Given the description of an element on the screen output the (x, y) to click on. 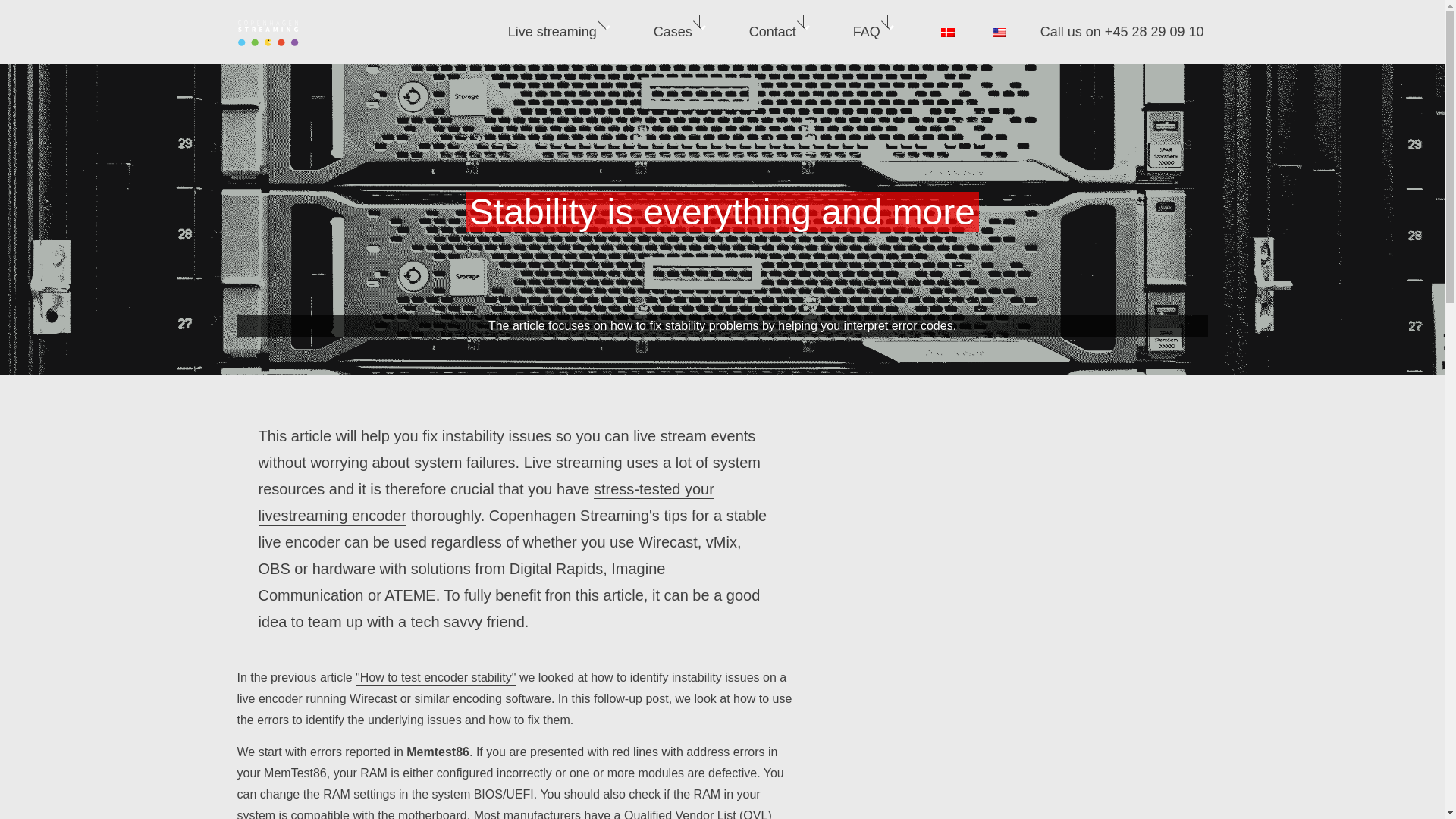
Cases (673, 31)
Live streaming (552, 31)
FAQ (866, 31)
English (999, 31)
"How to test encoder stability" (435, 677)
Contact (771, 31)
Danish (947, 31)
stress-tested your livestreaming encoder (485, 502)
